Given the description of an element on the screen output the (x, y) to click on. 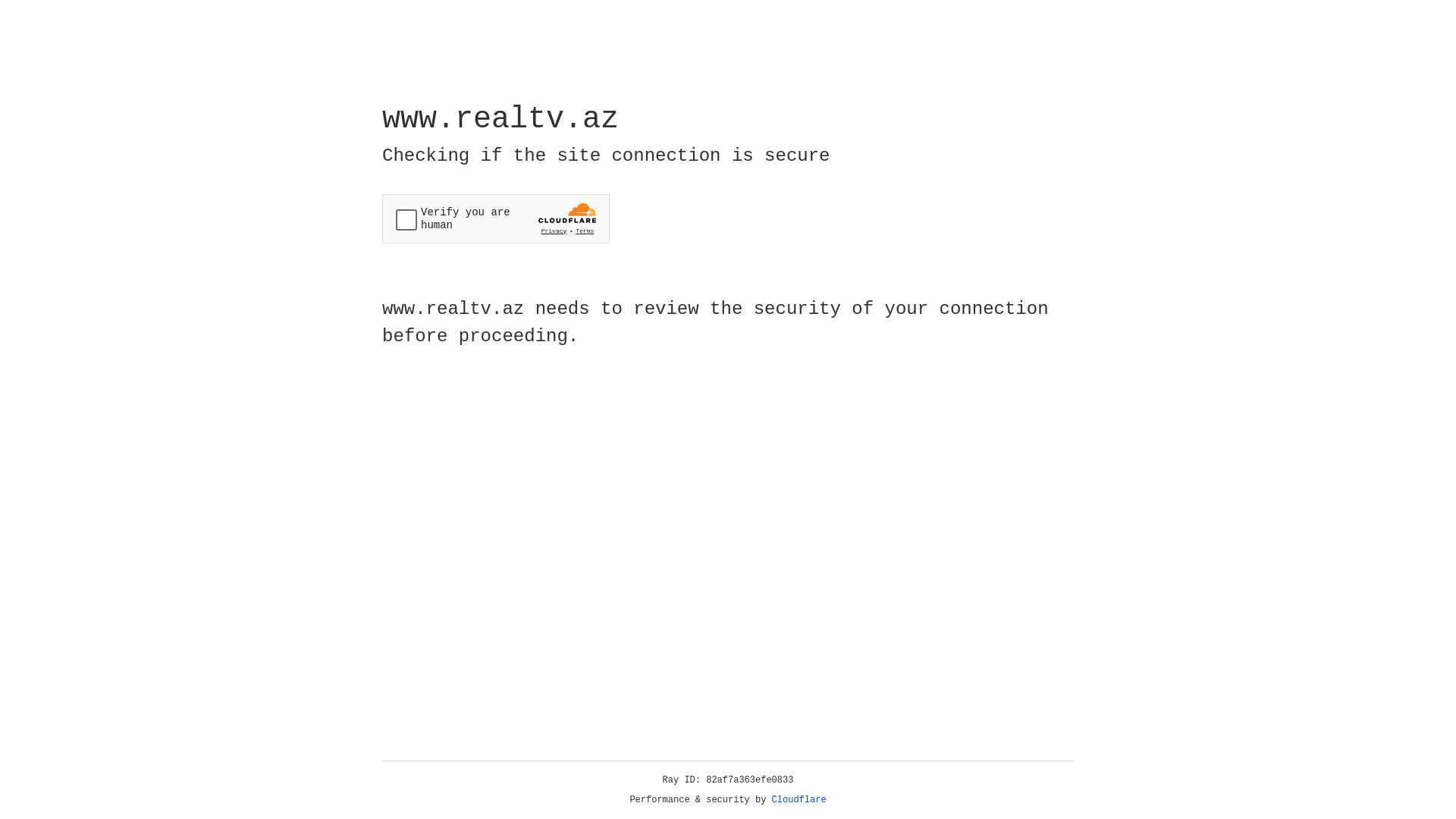
Widget containing a Cloudflare security challenge Element type: hover (495, 218)
Cloudflare Element type: text (798, 799)
